Given the description of an element on the screen output the (x, y) to click on. 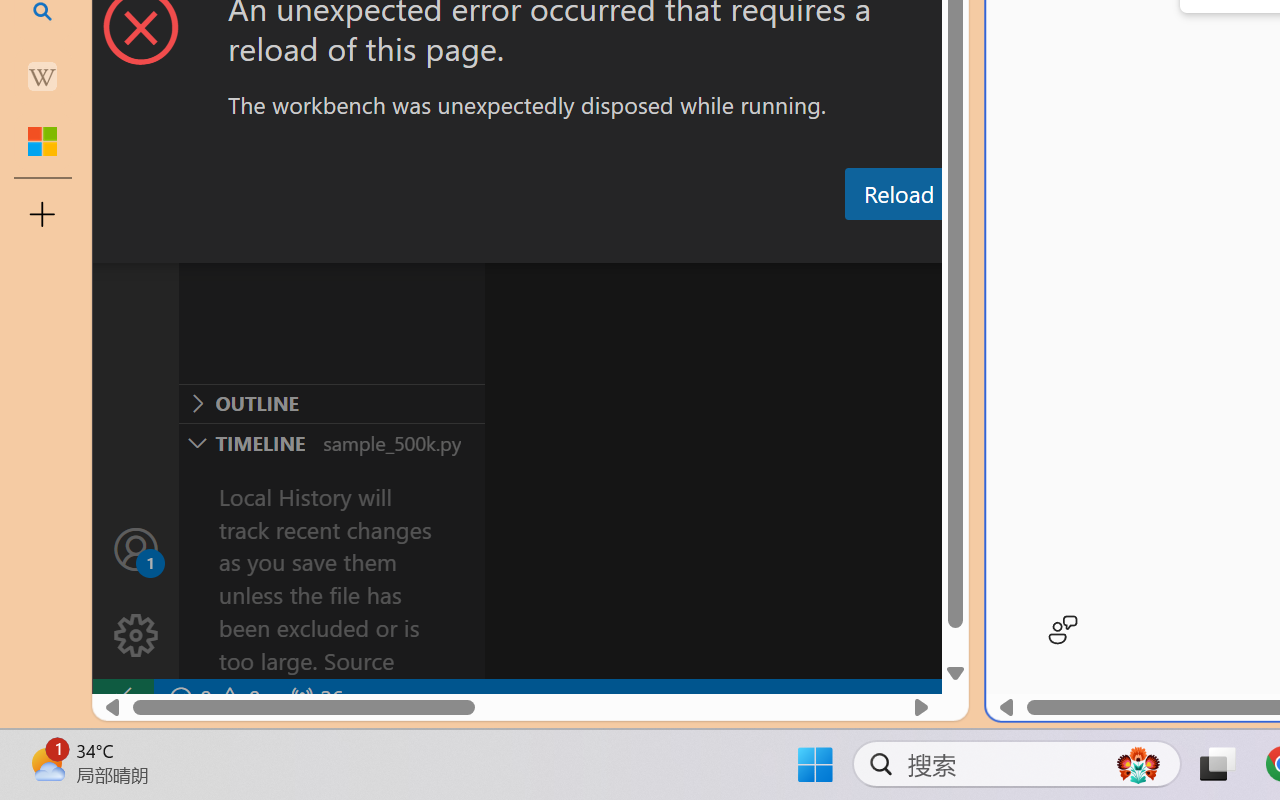
remote (122, 698)
Terminal (Ctrl+`) (1021, 243)
Reload (898, 193)
Outline Section (331, 403)
